Given the description of an element on the screen output the (x, y) to click on. 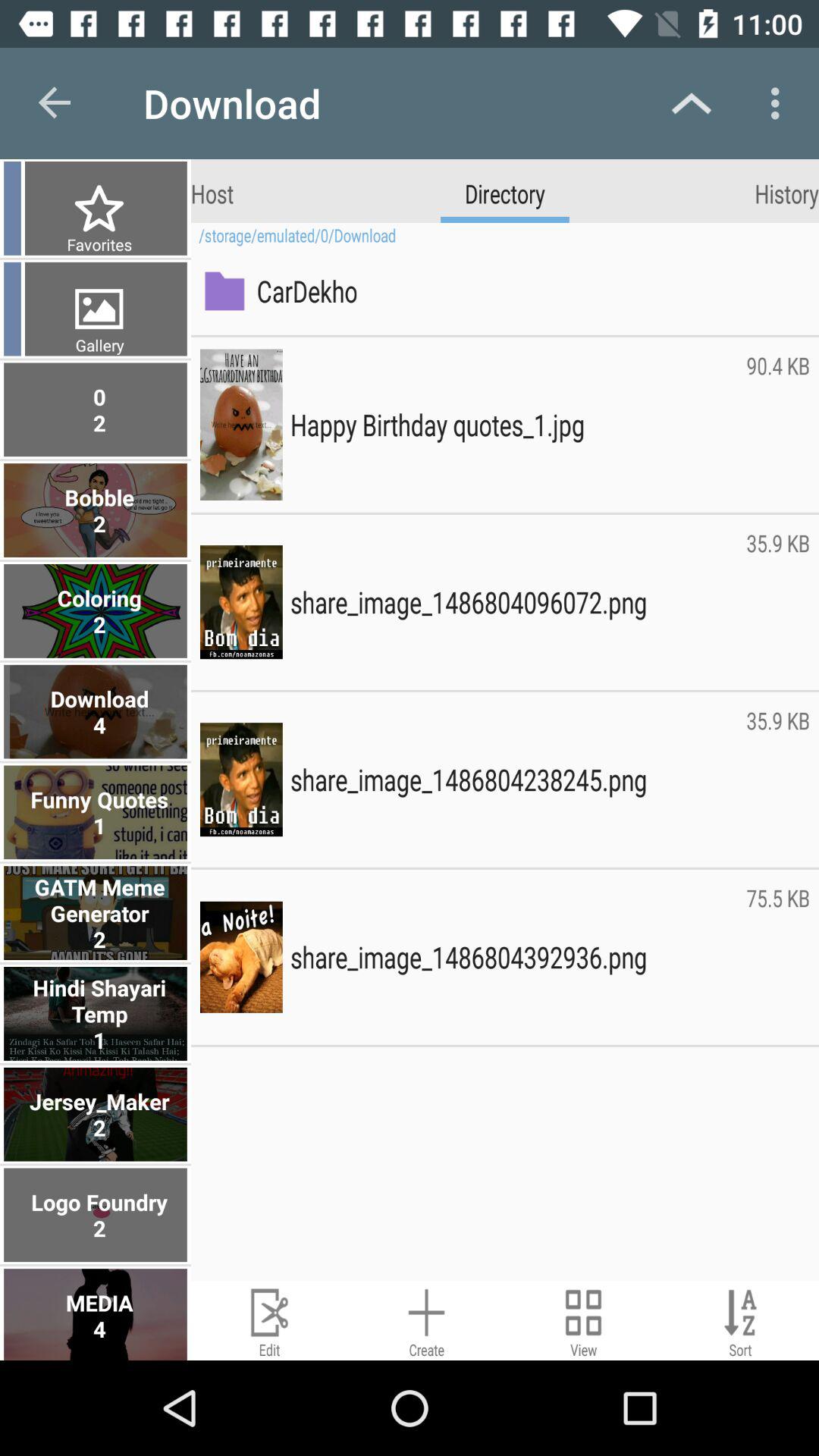
create playlist (426, 1320)
